Given the description of an element on the screen output the (x, y) to click on. 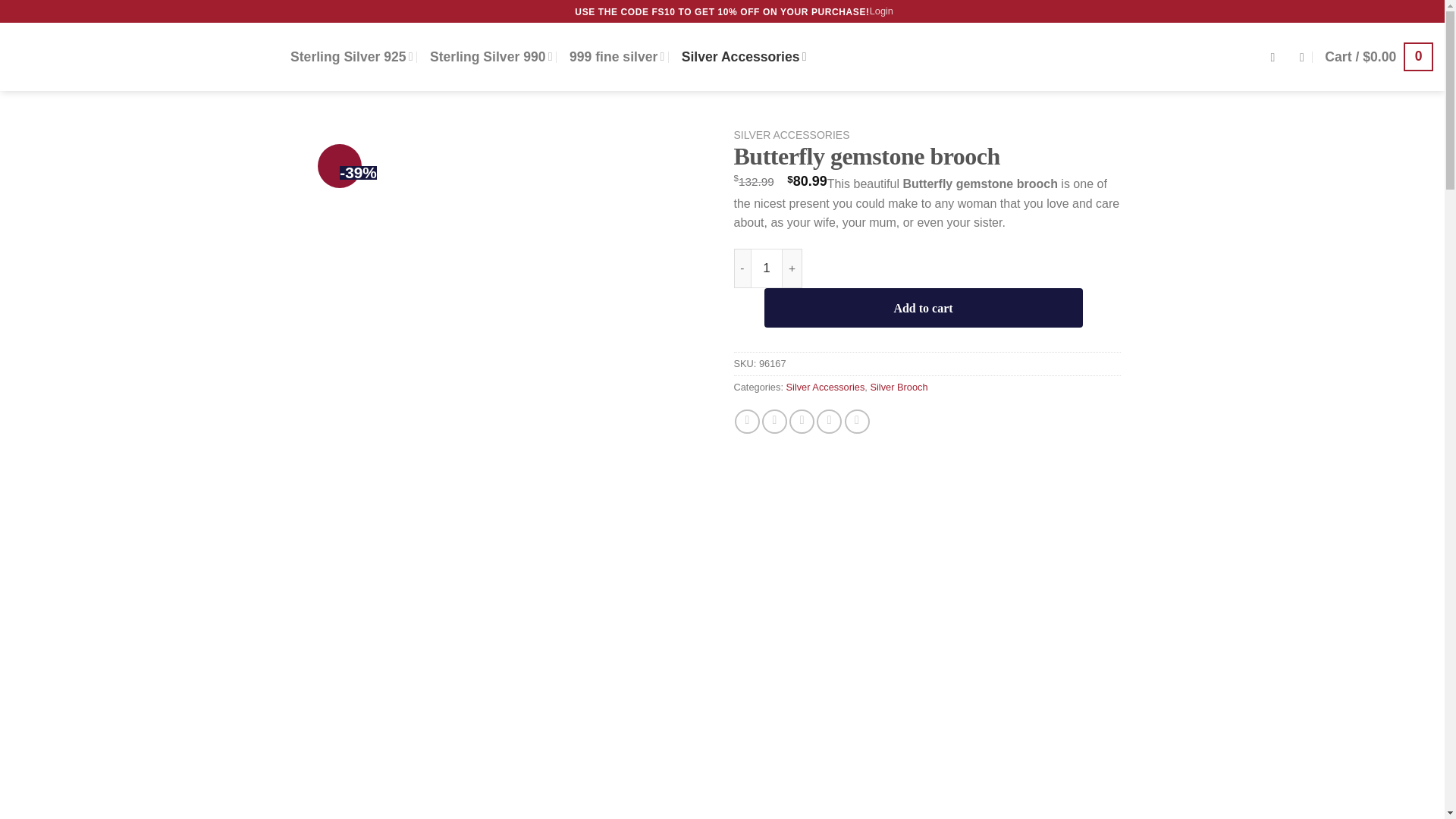
Login (881, 11)
Share on Twitter (774, 421)
Share on Facebook (747, 421)
Pin on Pinterest (828, 421)
Sterling Silver 990 (491, 56)
Share on LinkedIn (856, 421)
Sterling Silver 925 (351, 56)
Login (881, 11)
Silver Accessories (743, 56)
Email to a Friend (801, 421)
